Given the description of an element on the screen output the (x, y) to click on. 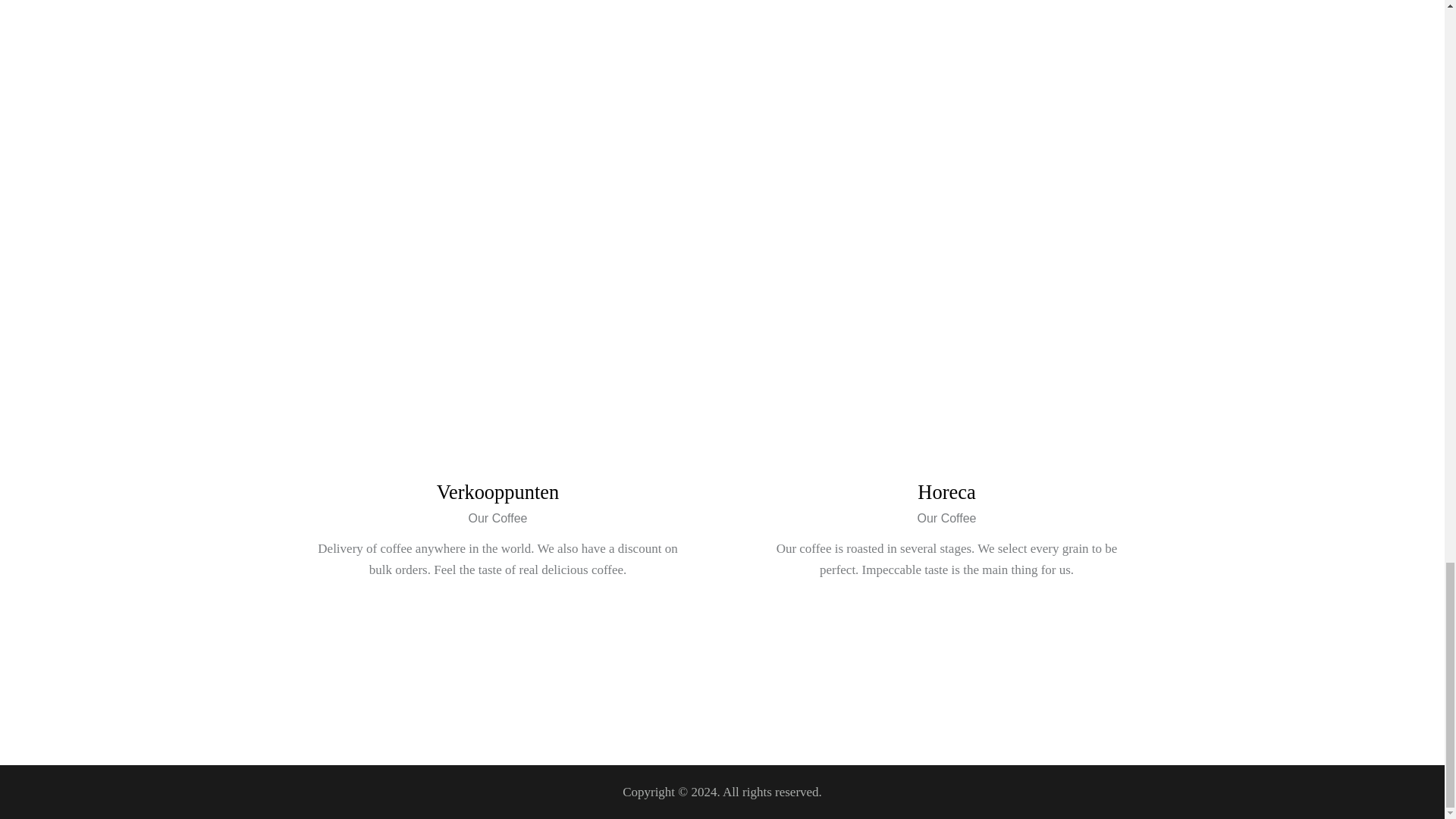
Our Coffee (497, 517)
Verkooppunten (498, 491)
View all posts in Our Coffee (497, 517)
View all posts in Our Coffee (946, 517)
